Given the description of an element on the screen output the (x, y) to click on. 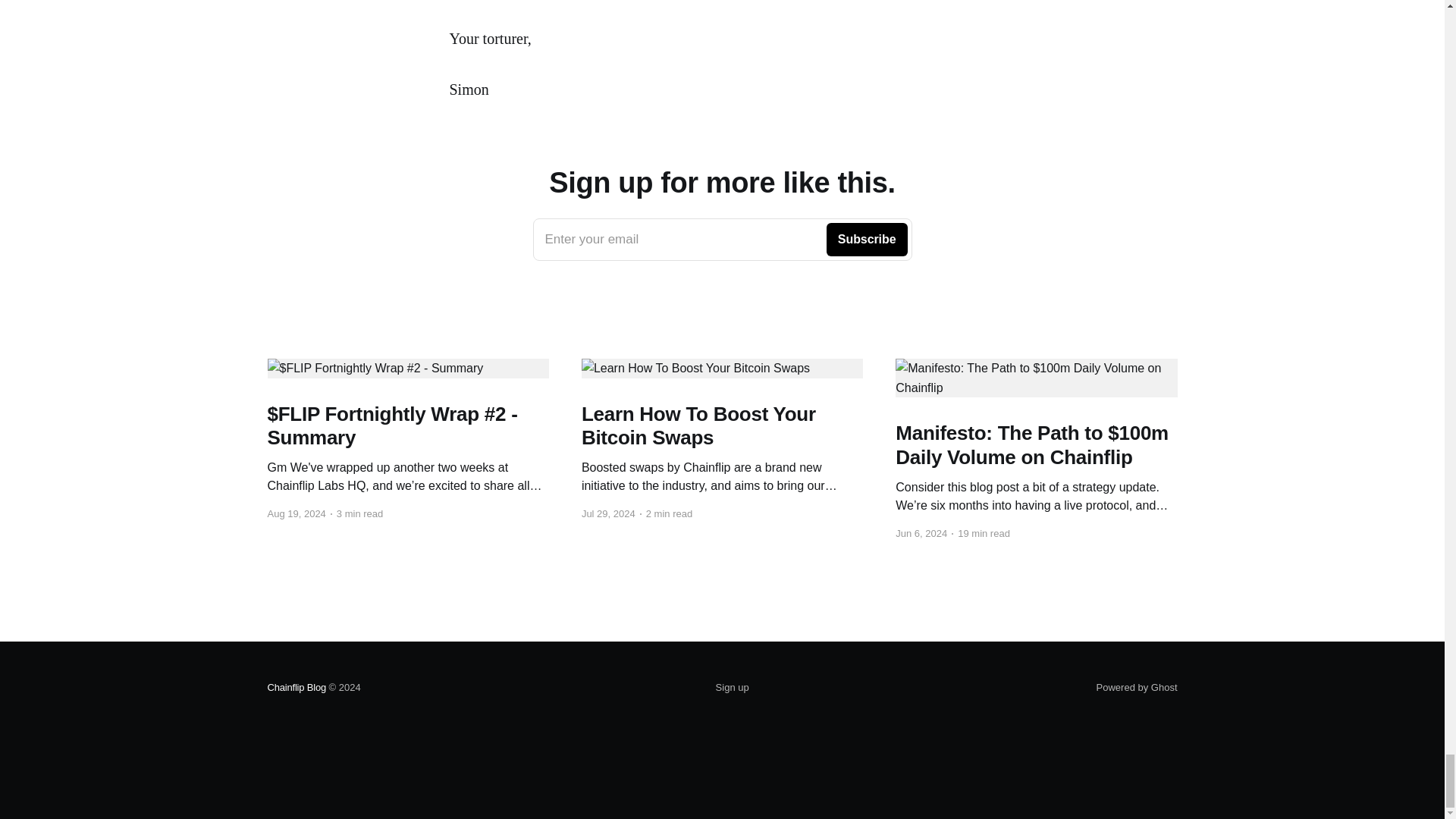
Chainflip Blog (721, 239)
Sign up (296, 686)
Powered by Ghost (732, 687)
